Given the description of an element on the screen output the (x, y) to click on. 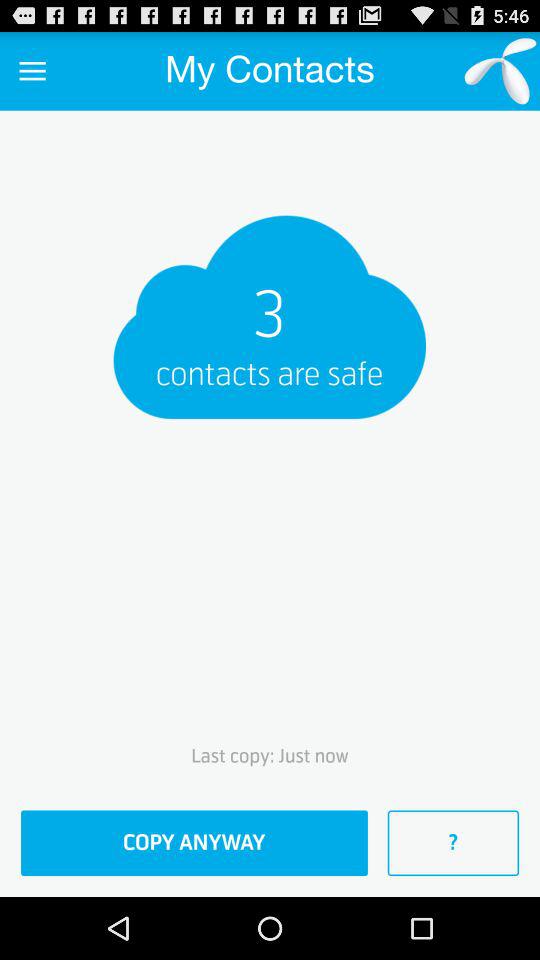
choose the  ? (453, 843)
